Given the description of an element on the screen output the (x, y) to click on. 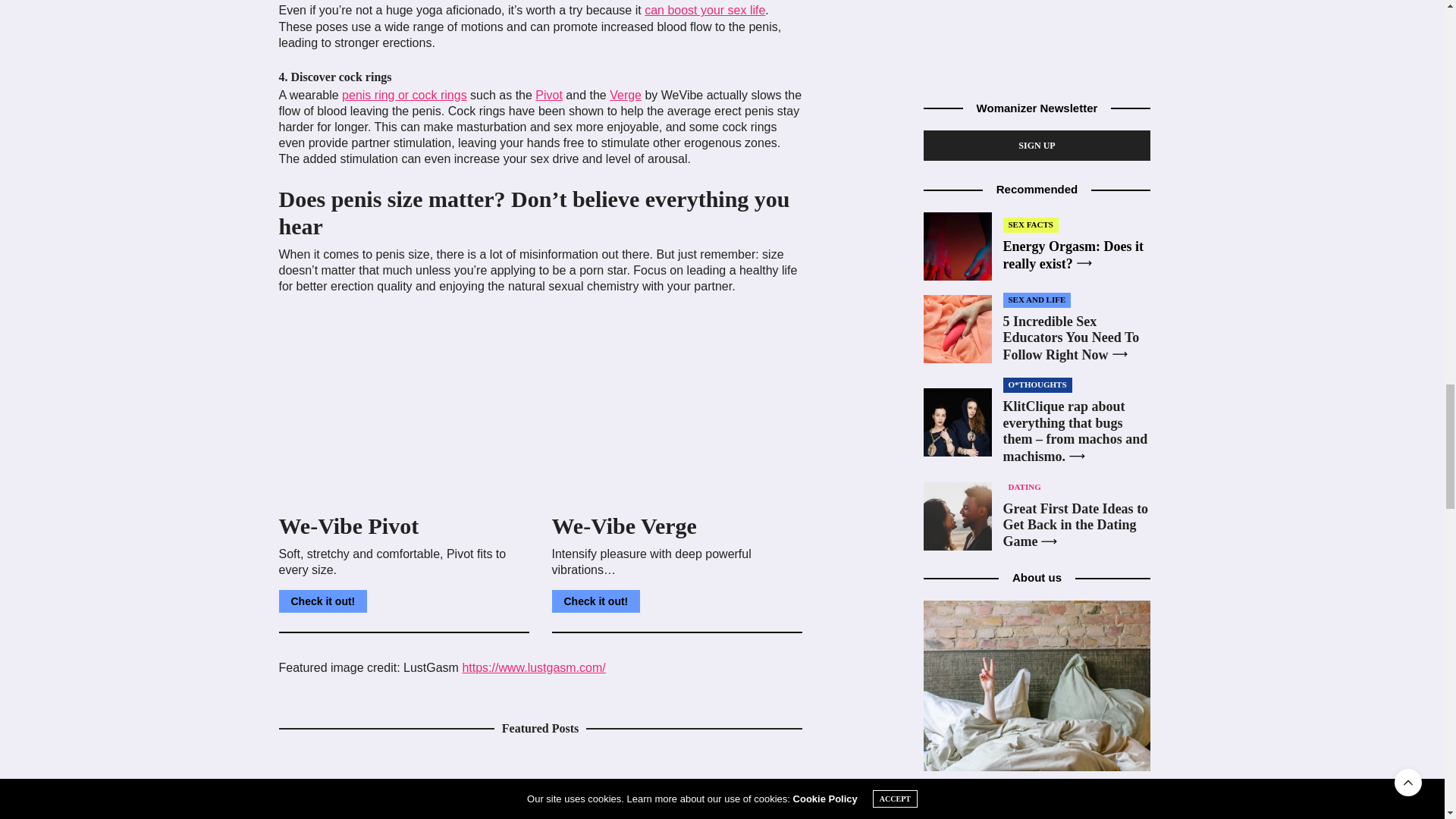
We-Vibe-Pivot (404, 405)
can boost your sex life (705, 10)
penis ring or cock rings (404, 94)
Pivot (548, 94)
What is Shibari: The BDSM Basics of Rope Play (404, 786)
